Given the description of an element on the screen output the (x, y) to click on. 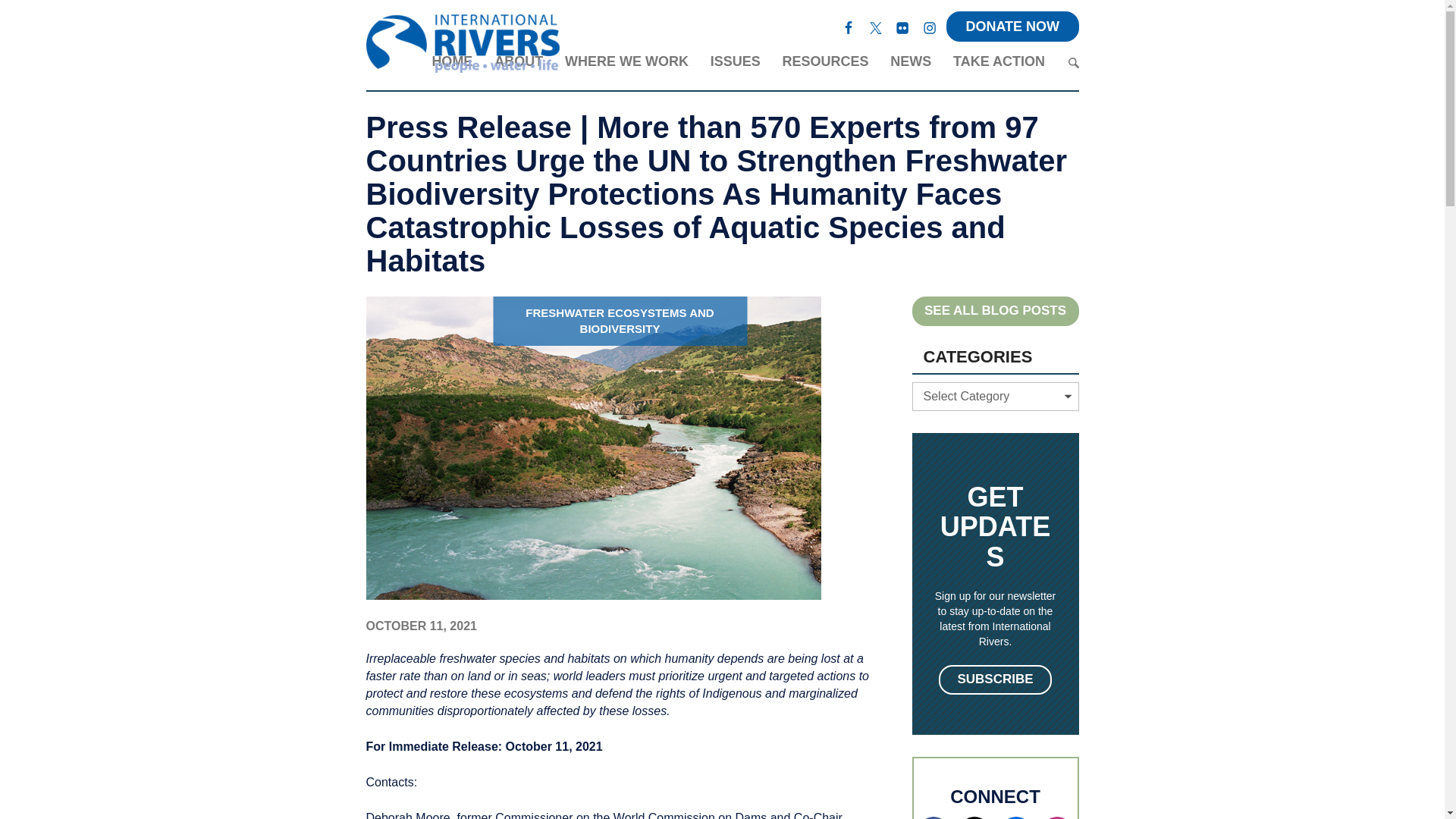
HOME (450, 63)
Search (1072, 62)
ABOUT (519, 63)
Flickr (902, 26)
Instagram (929, 26)
Facebook (848, 26)
WHERE WE WORK (626, 63)
ISSUES (735, 63)
DONATE NOW (1012, 26)
International Rivers (462, 45)
Twitter (875, 26)
